Given the description of an element on the screen output the (x, y) to click on. 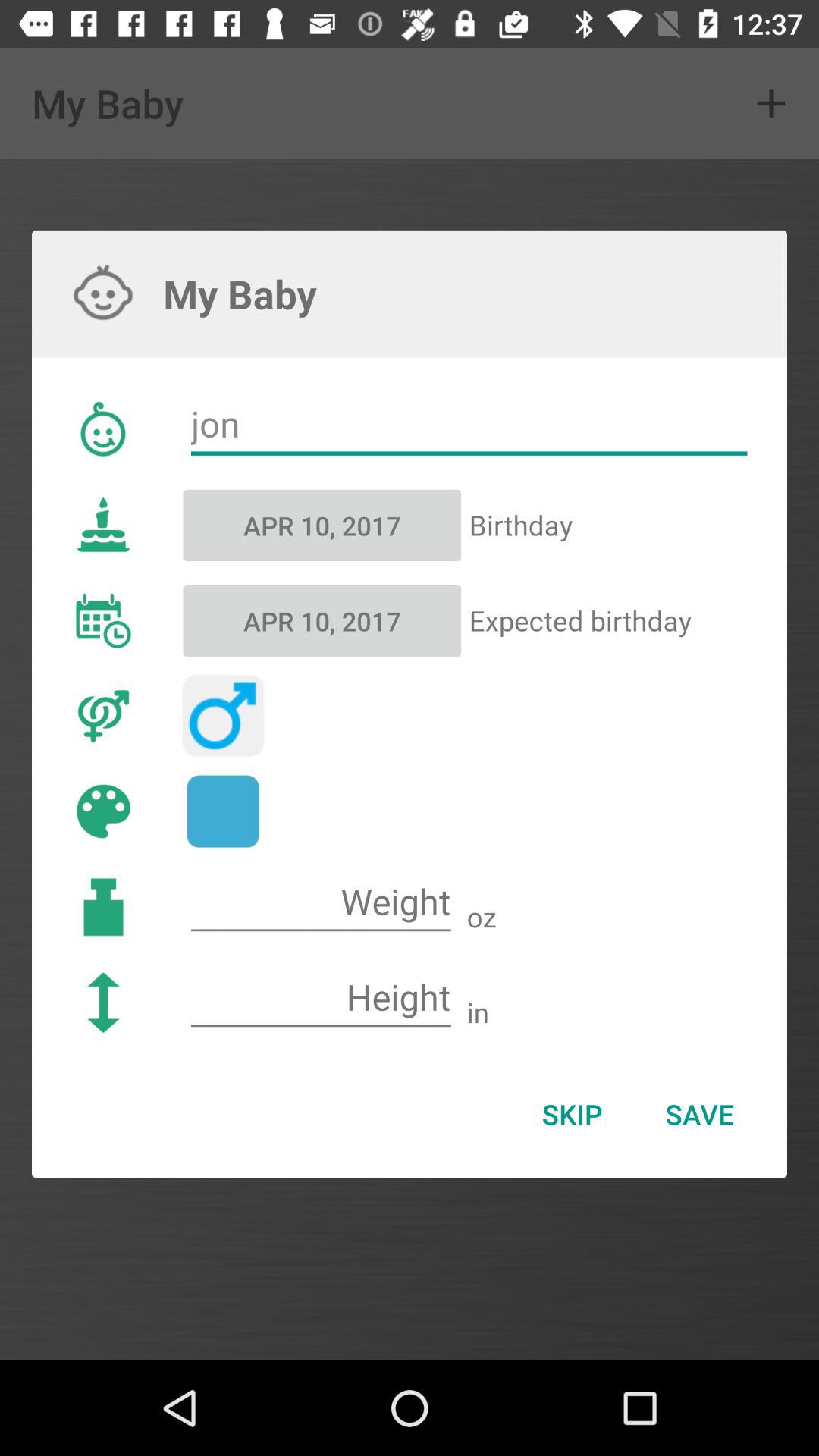
open item below the my baby (469, 425)
